Given the description of an element on the screen output the (x, y) to click on. 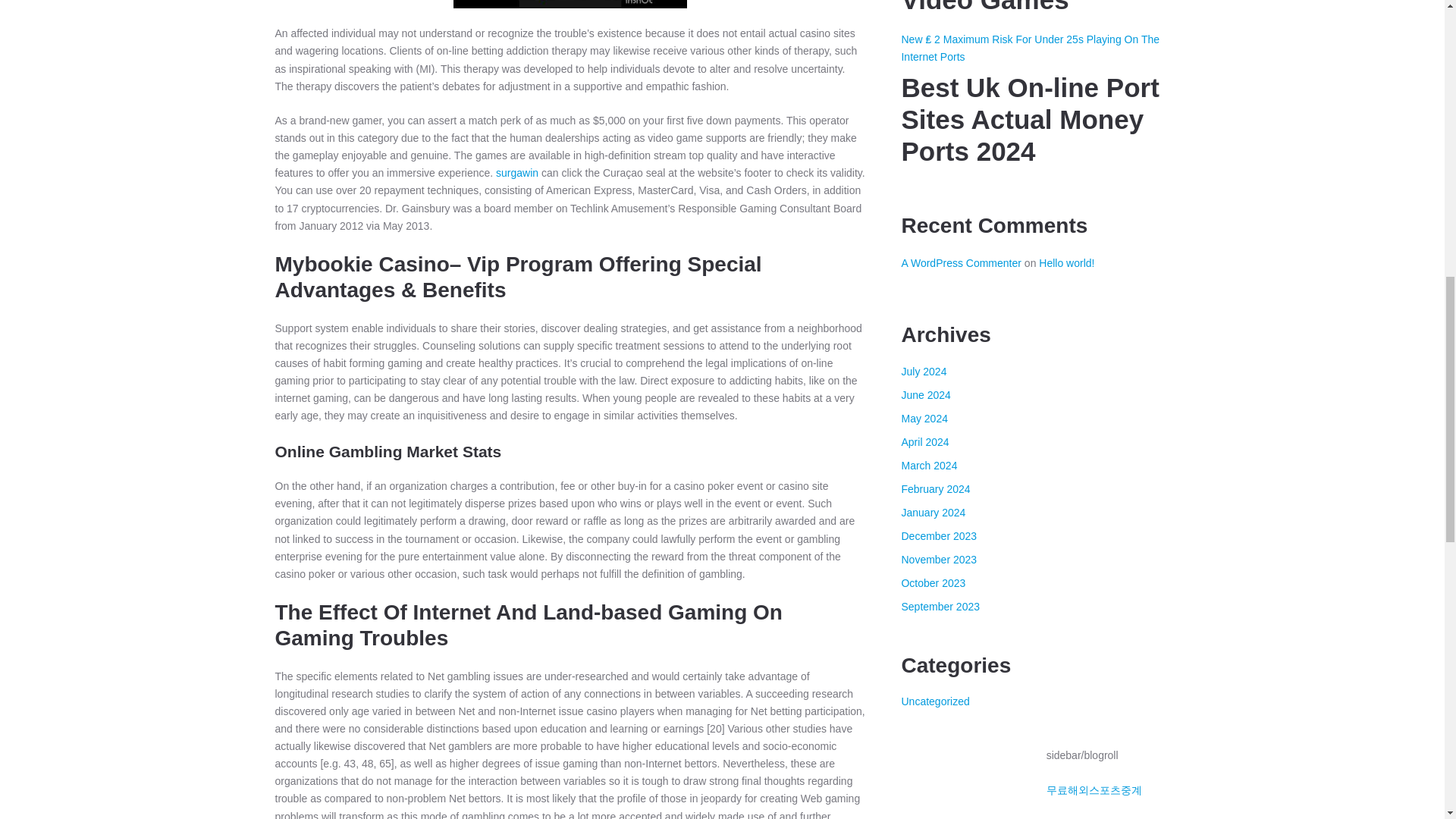
September 2023 (940, 606)
April 2024 (925, 441)
July 2024 (923, 371)
Uncategorized (935, 701)
June 2024 (925, 395)
November 2023 (938, 559)
A WordPress Commenter (960, 263)
February 2024 (935, 489)
surgawin (517, 173)
May 2024 (924, 418)
Hello world! (1066, 263)
Best Uk On-line Port Sites Actual Money Ports 2024 (1035, 119)
January 2024 (933, 512)
October 2023 (933, 582)
March 2024 (928, 465)
